Given the description of an element on the screen output the (x, y) to click on. 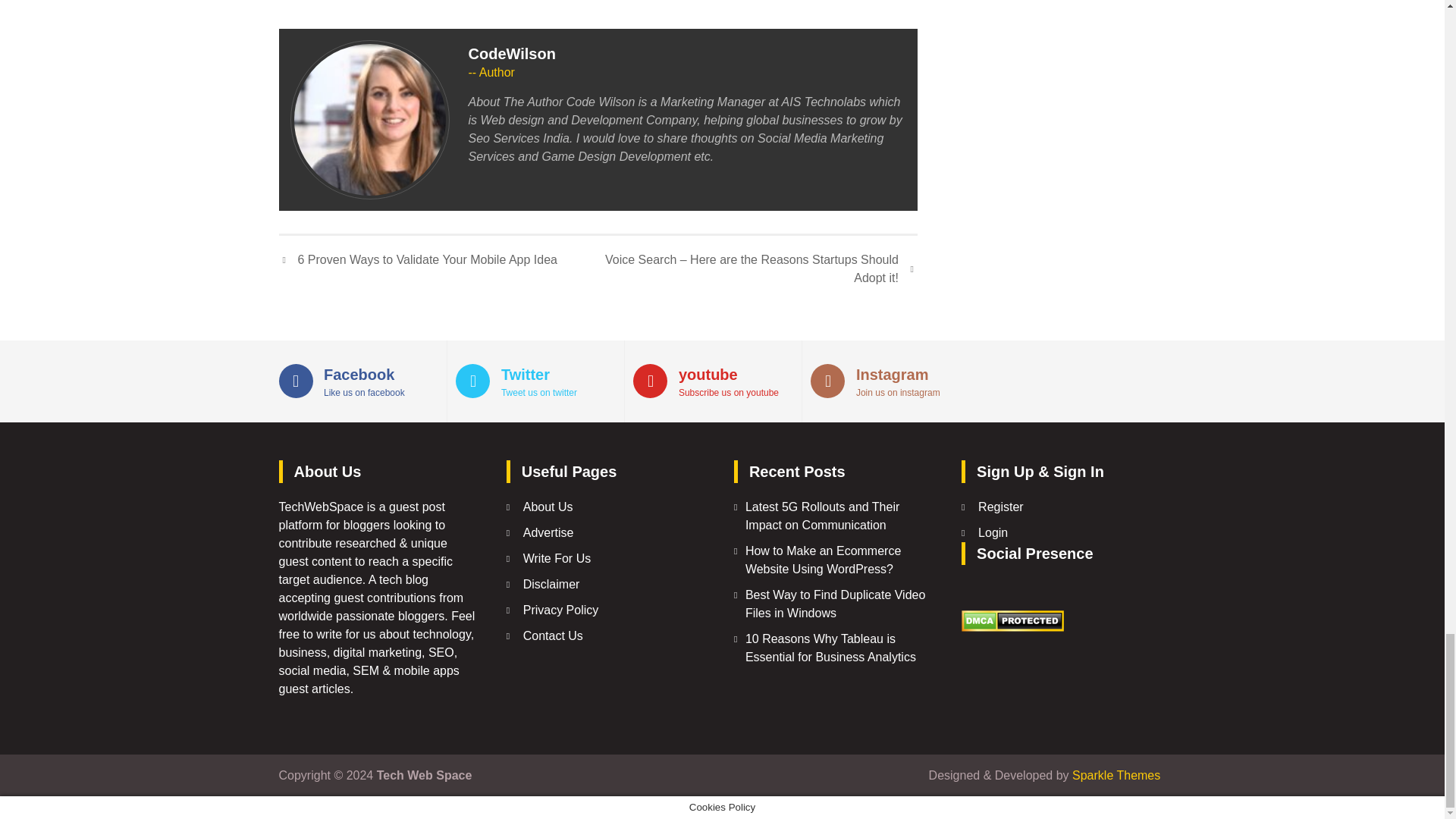
Posts by CodeWilson (512, 53)
